Given the description of an element on the screen output the (x, y) to click on. 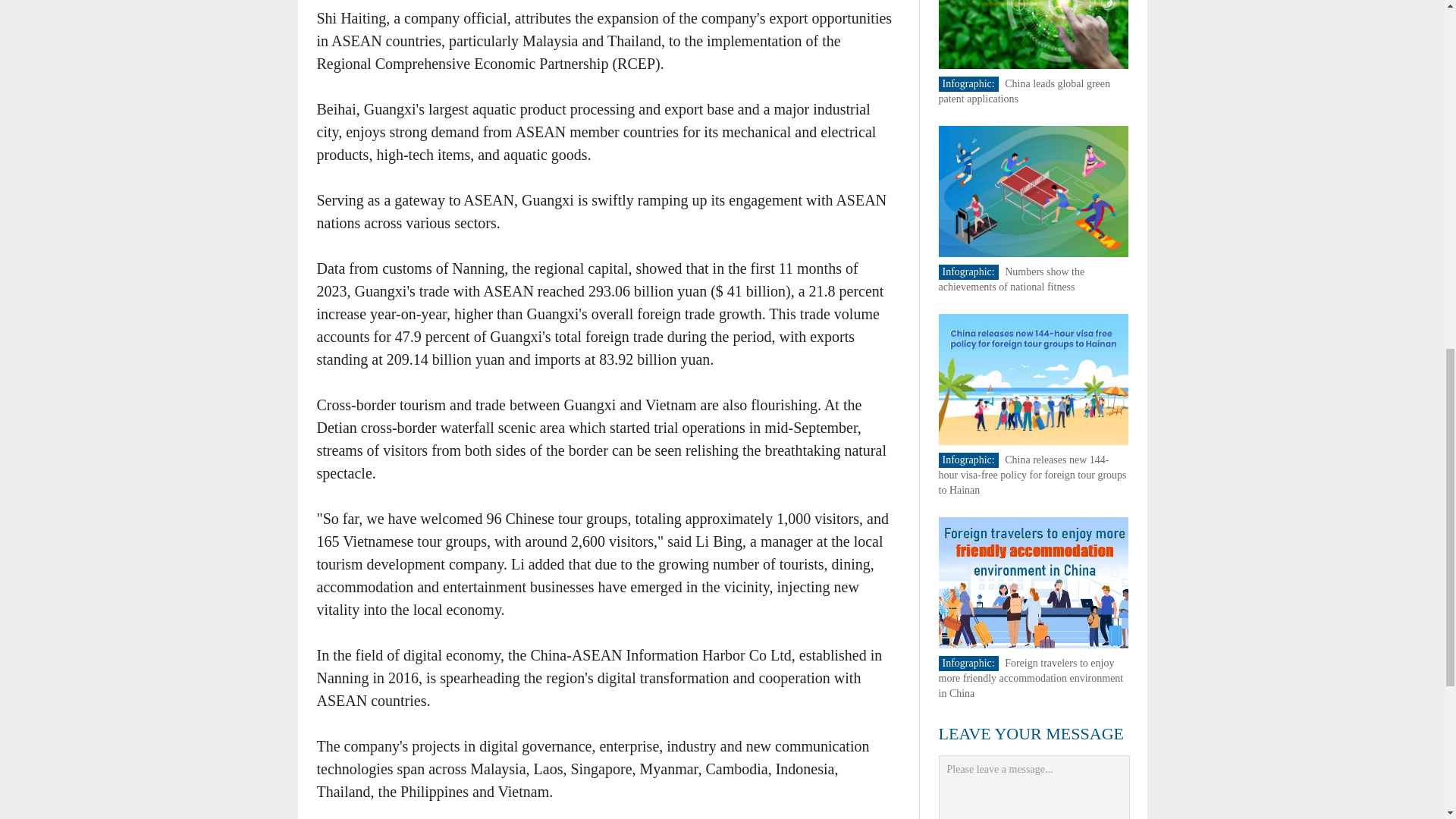
China leads global green patent applications (1024, 90)
Numbers show the achievements of national fitness (1011, 279)
LEAVE YOUR MESSAGE (1031, 732)
